Given the description of an element on the screen output the (x, y) to click on. 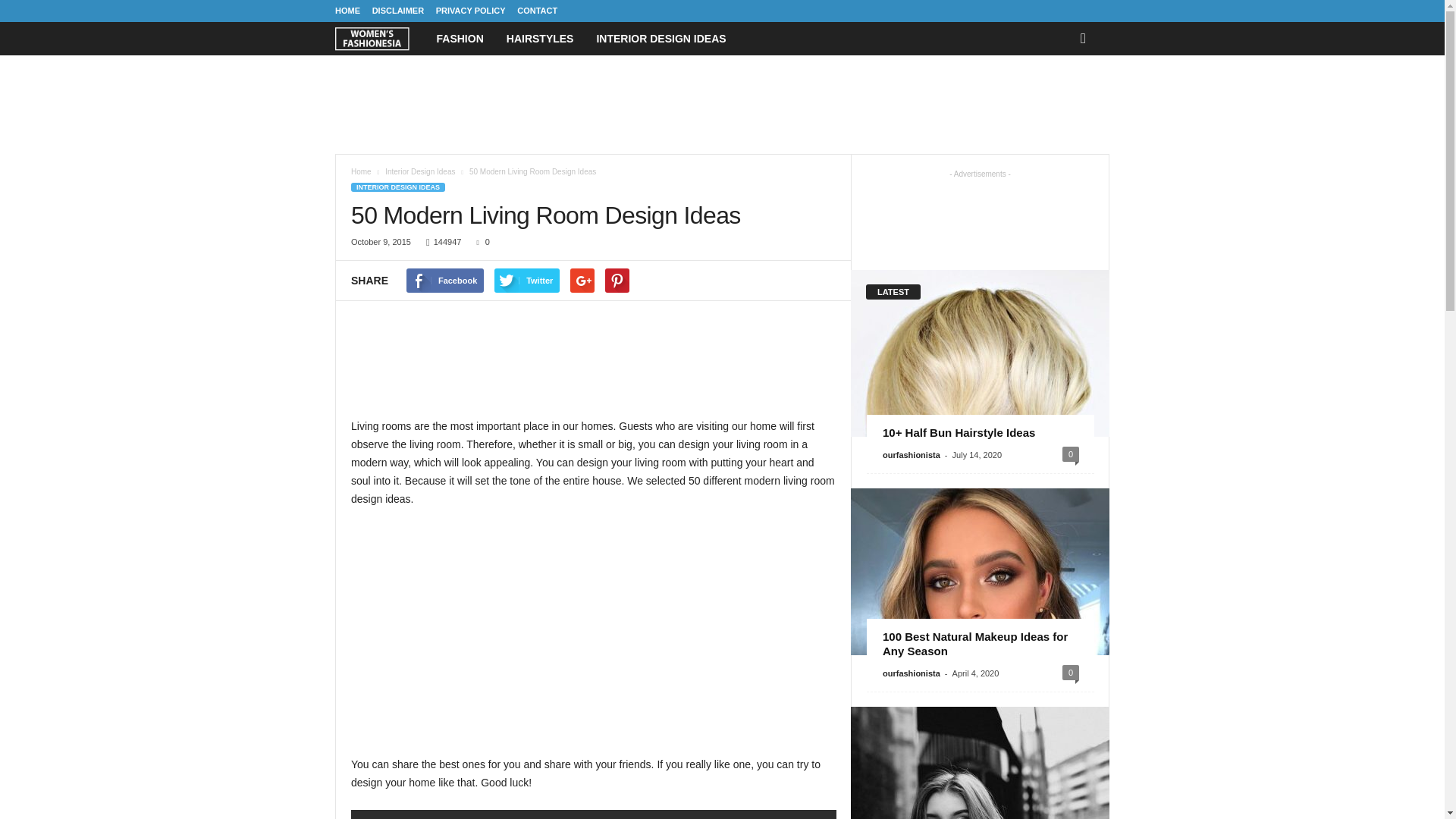
FASHION (460, 38)
Home (360, 171)
Advertisement (592, 632)
Advertisement (721, 104)
Interior Design Ideas (421, 171)
Facebook (444, 280)
0 (479, 241)
Advertisement (593, 366)
View all posts in Interior Design Ideas (421, 171)
PRIVACY POLICY (470, 10)
